Given the description of an element on the screen output the (x, y) to click on. 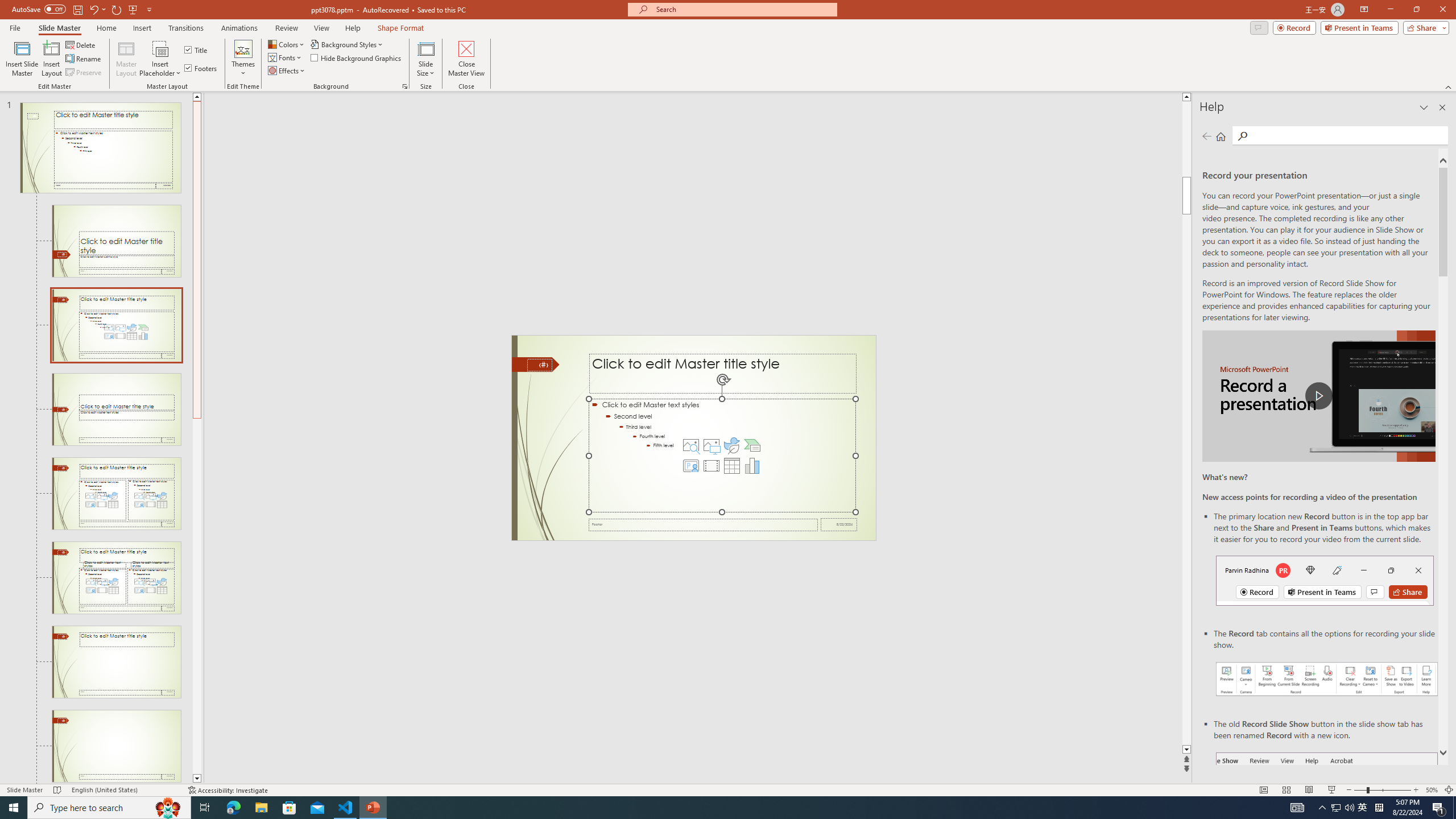
Slide Title Slide Layout: used by slide(s) 1 (116, 240)
Insert an Icon (731, 445)
Record your presentations screenshot one (1326, 678)
Hide Background Graphics (356, 56)
Fonts (285, 56)
Format Background... (404, 85)
Footer (703, 524)
Insert Table (731, 466)
